Given the description of an element on the screen output the (x, y) to click on. 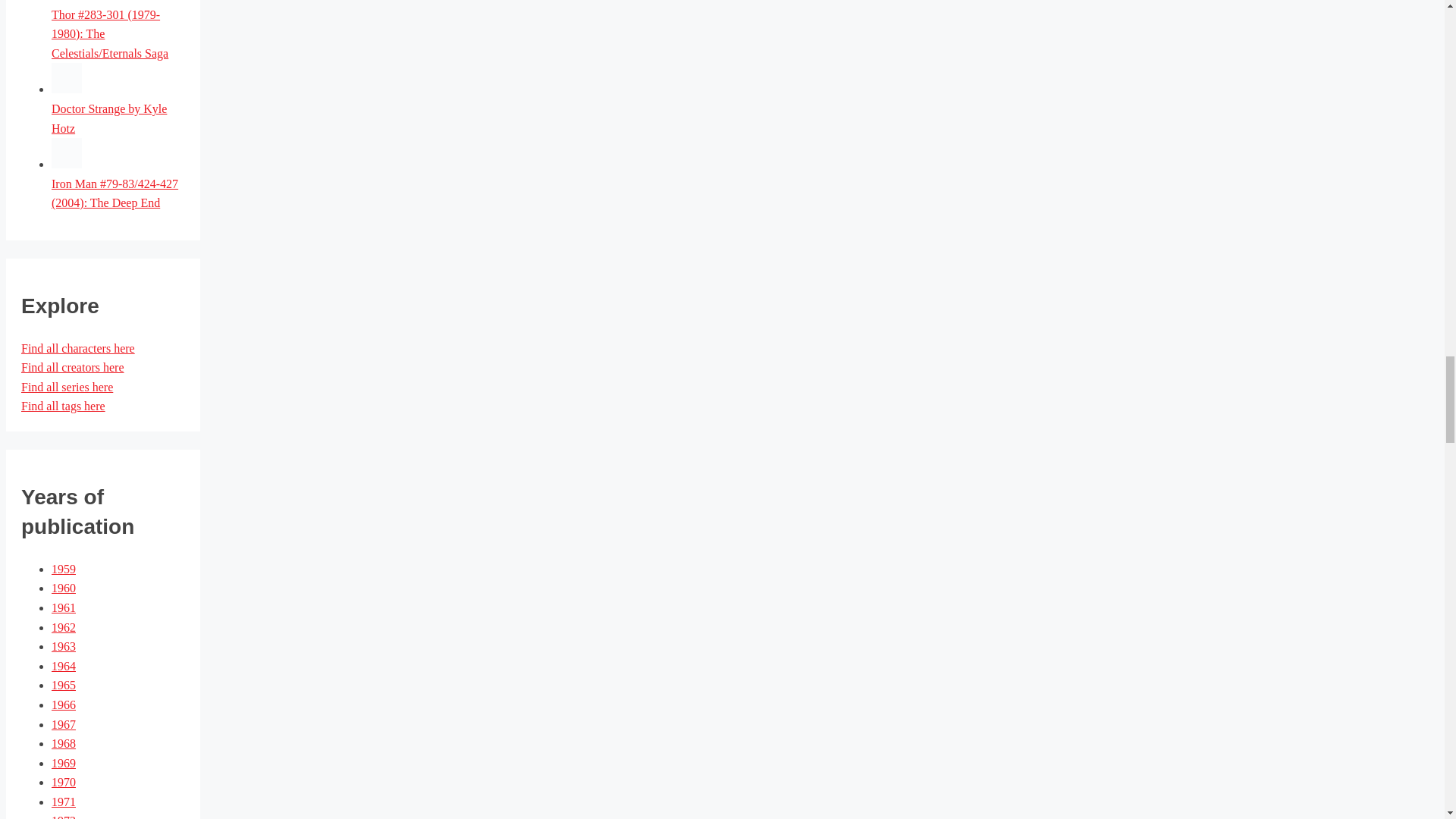
Find all characters here (78, 348)
Doctor Strange by Kyle Hotz (108, 118)
Doctor Strange by Kyle Hotz (108, 118)
Doctor Strange by Kyle Hotz (65, 88)
